Given the description of an element on the screen output the (x, y) to click on. 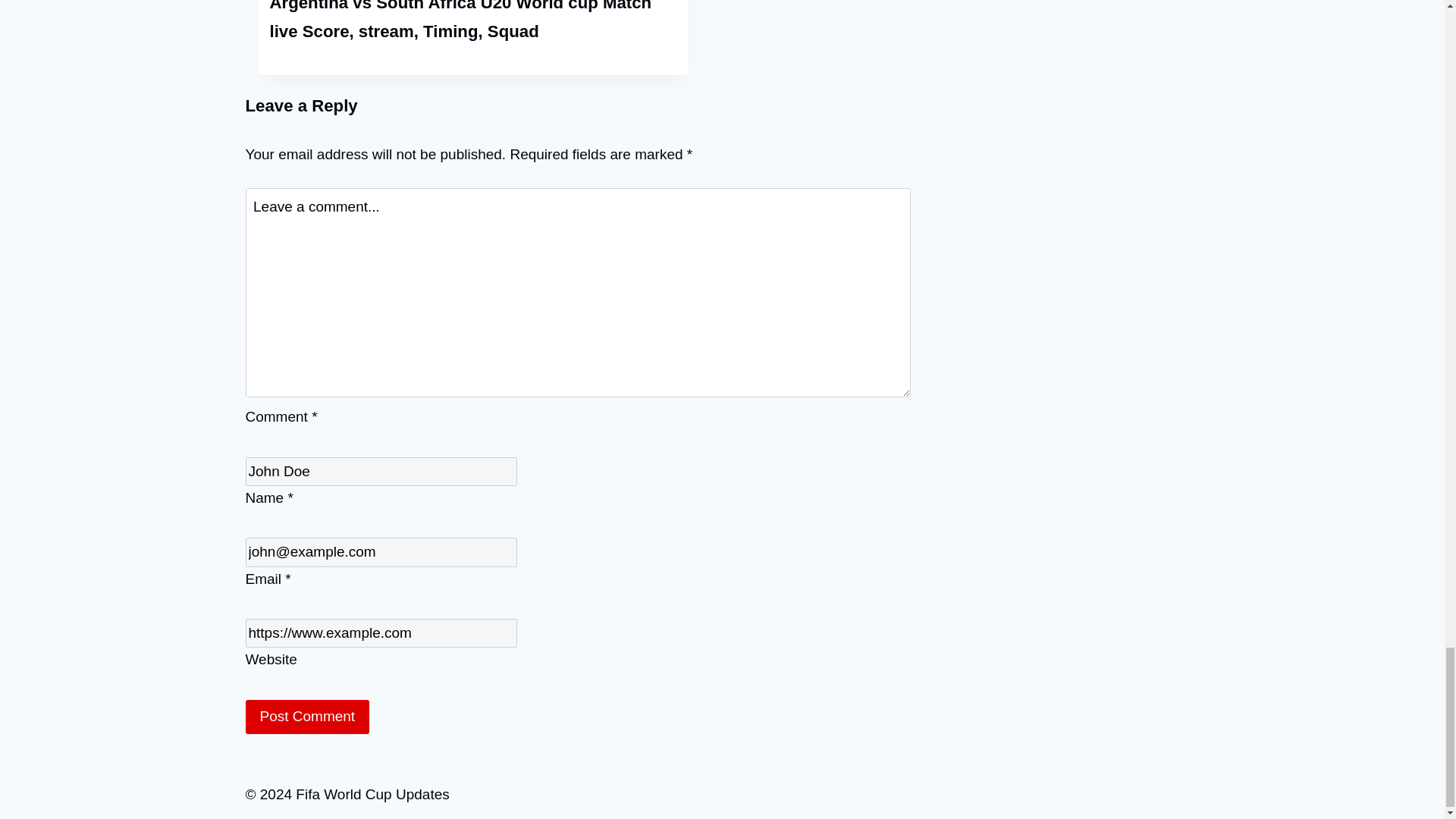
Post Comment (307, 717)
